Given the description of an element on the screen output the (x, y) to click on. 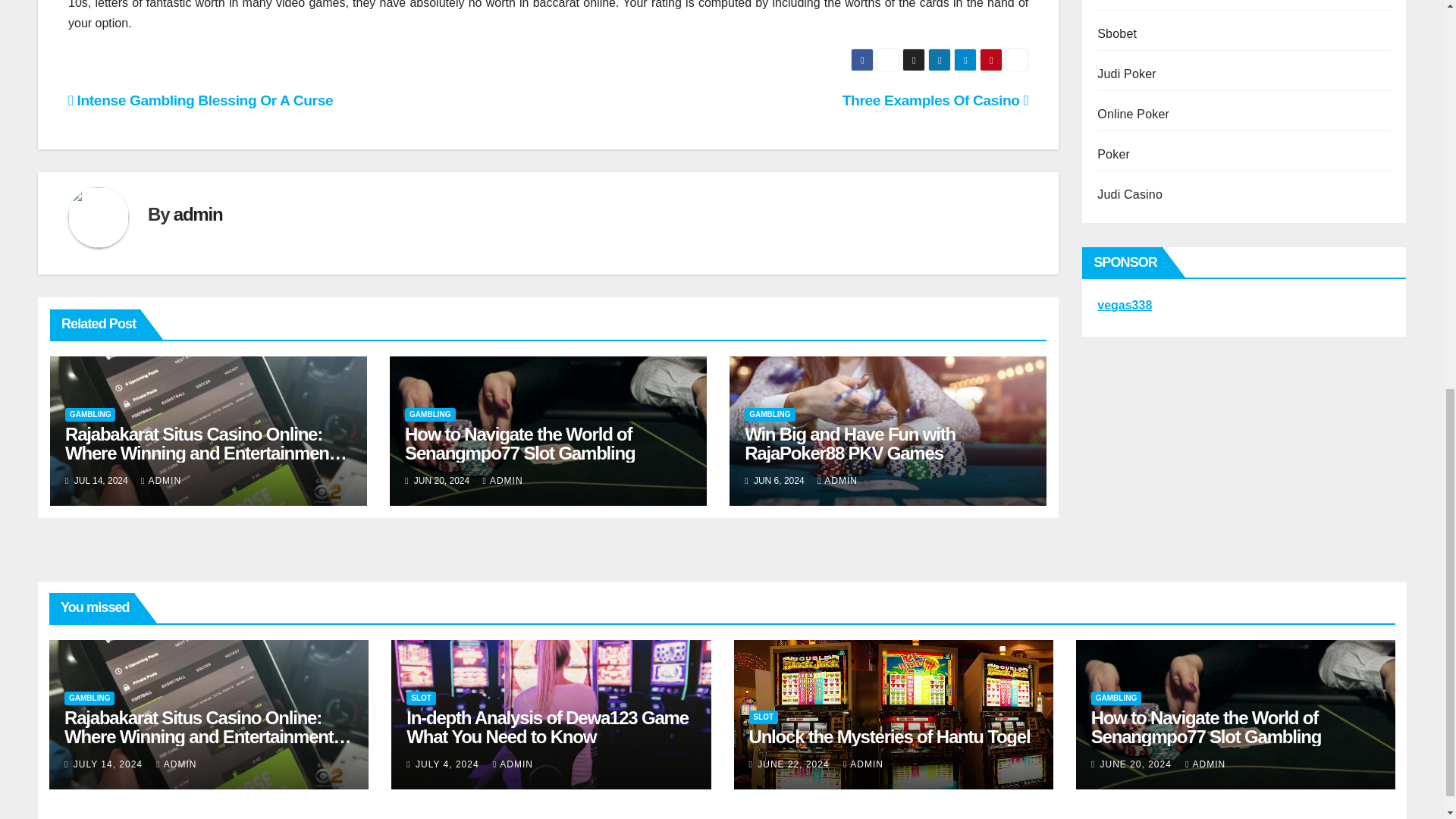
GAMBLING (429, 414)
GAMBLING (769, 414)
Intense Gambling Blessing Or A Curse (200, 100)
ADMIN (160, 480)
GAMBLING (90, 414)
Three Examples Of Casino (935, 100)
Permalink to: Unlock the Mysteries of Hantu Togel (889, 736)
ADMIN (502, 480)
